Given the description of an element on the screen output the (x, y) to click on. 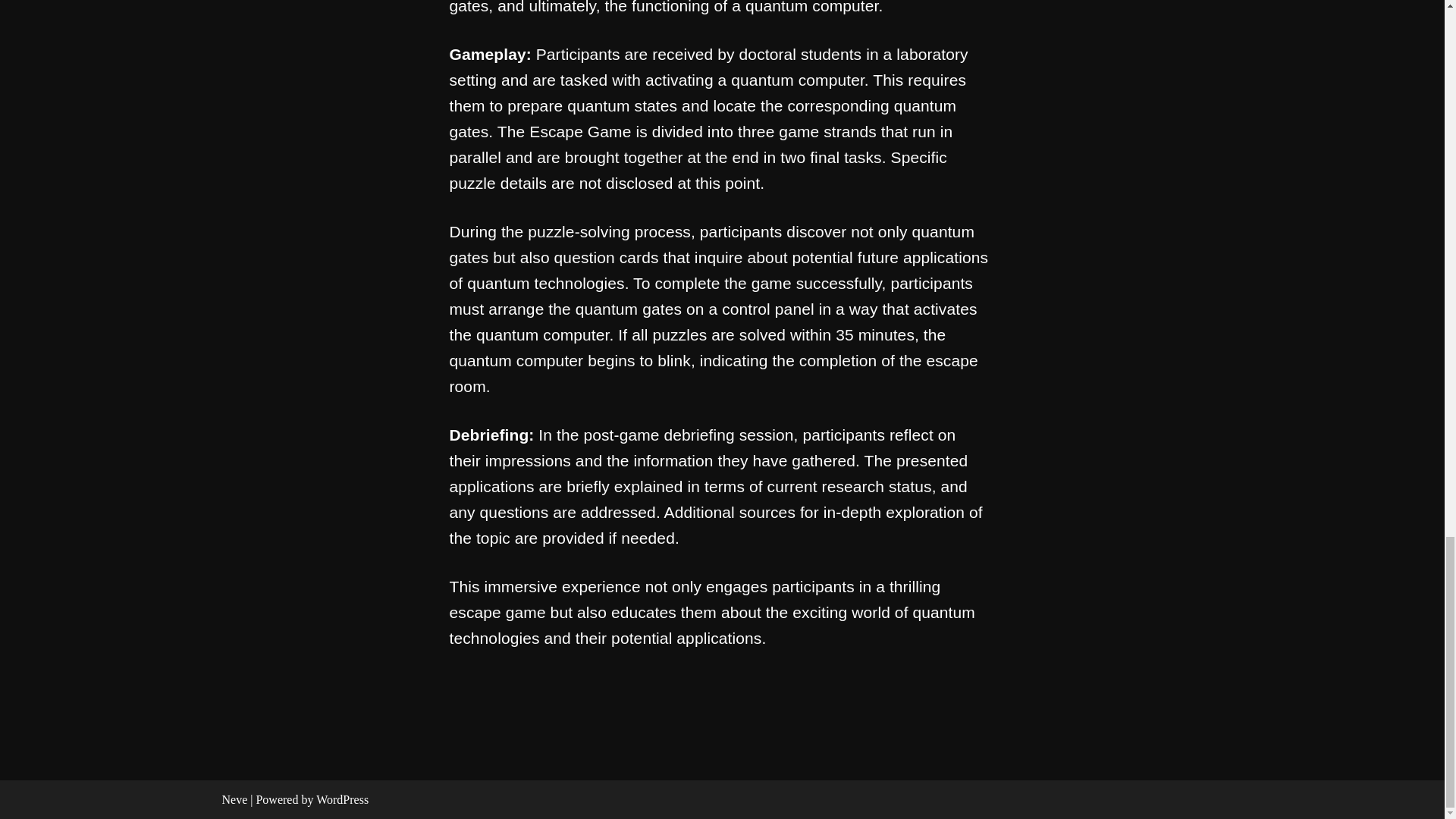
Neve (234, 799)
WordPress (341, 799)
